Given the description of an element on the screen output the (x, y) to click on. 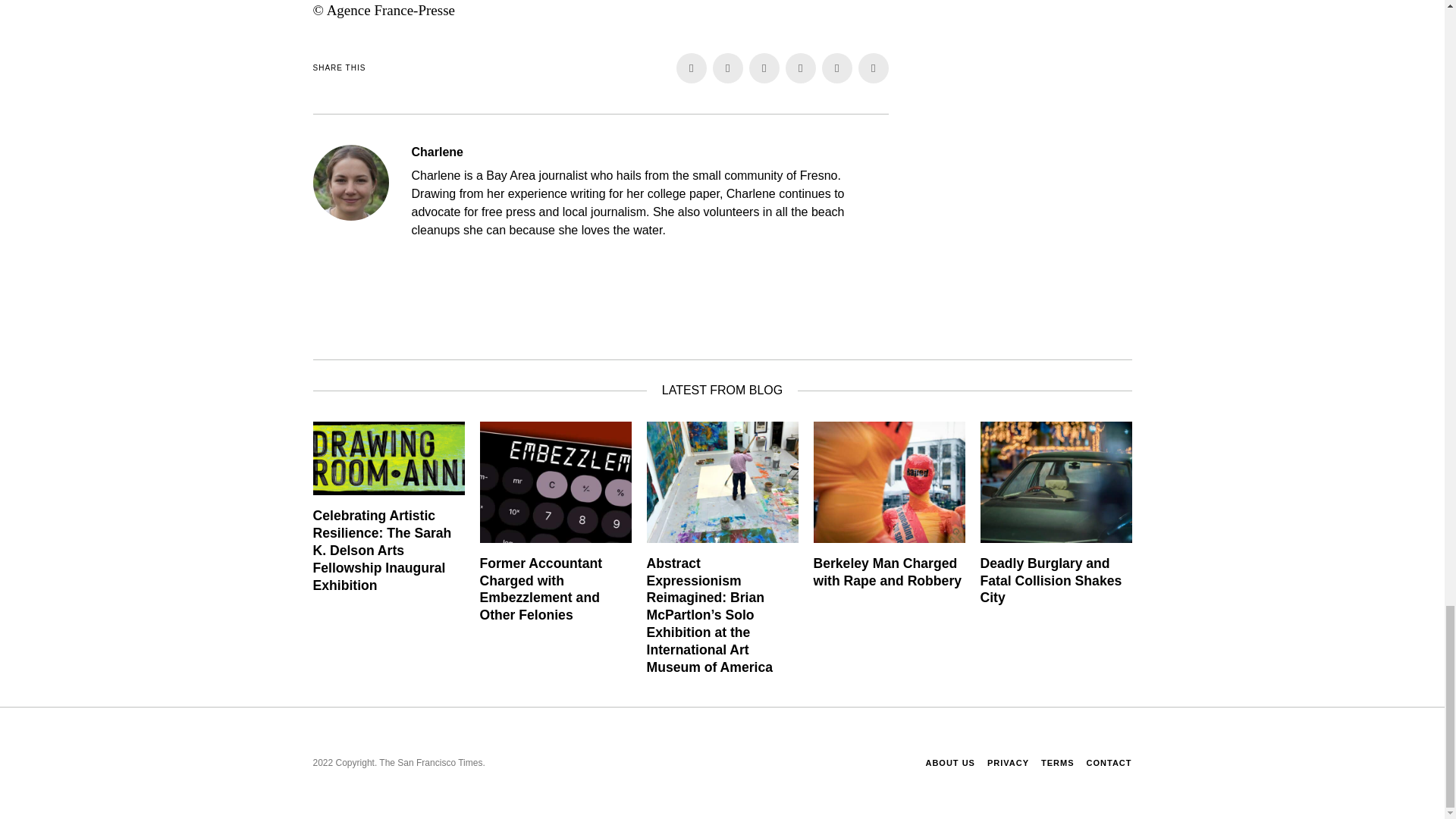
Charlene (436, 151)
